Given the description of an element on the screen output the (x, y) to click on. 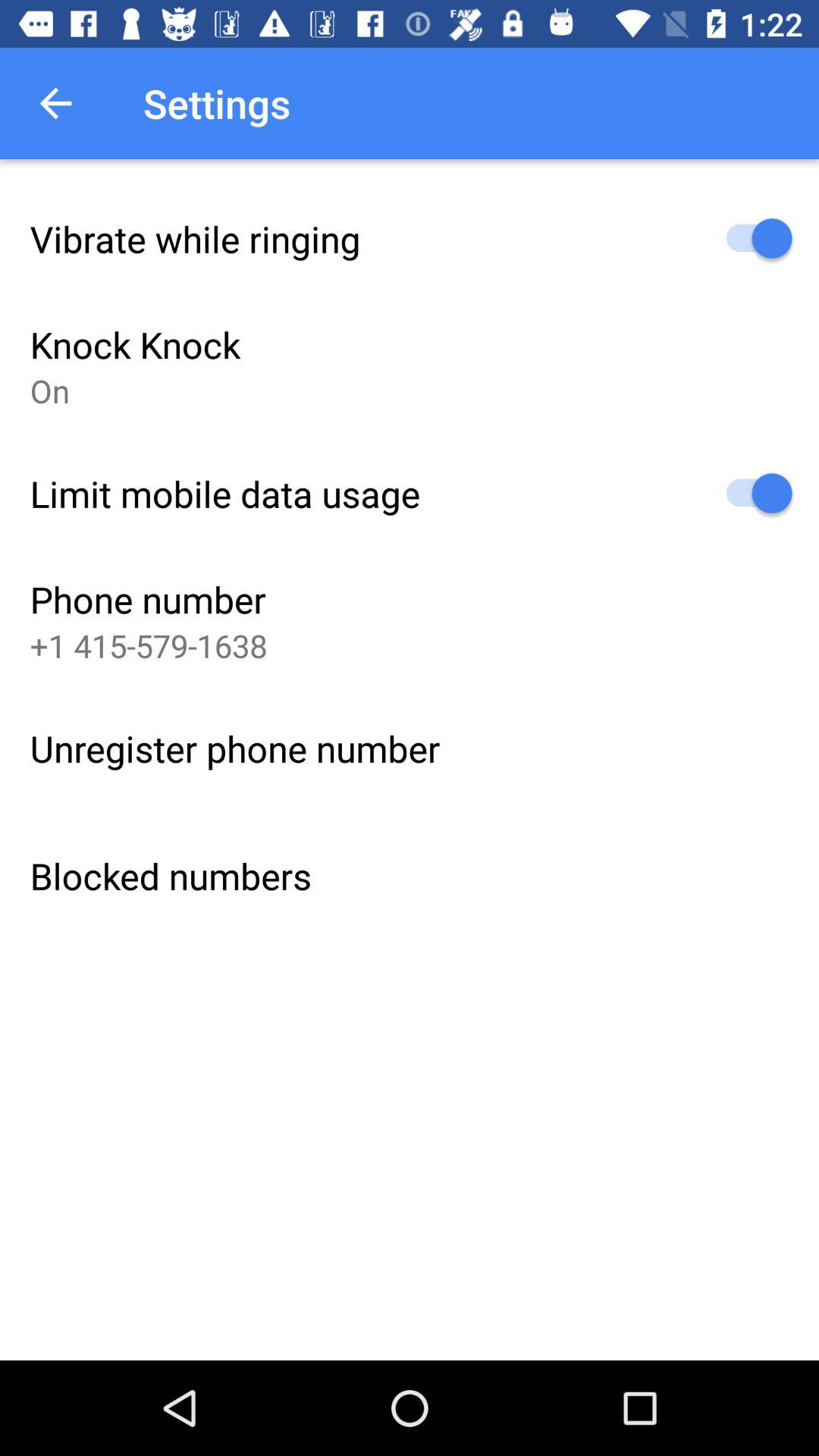
choose knock knock (135, 344)
